Given the description of an element on the screen output the (x, y) to click on. 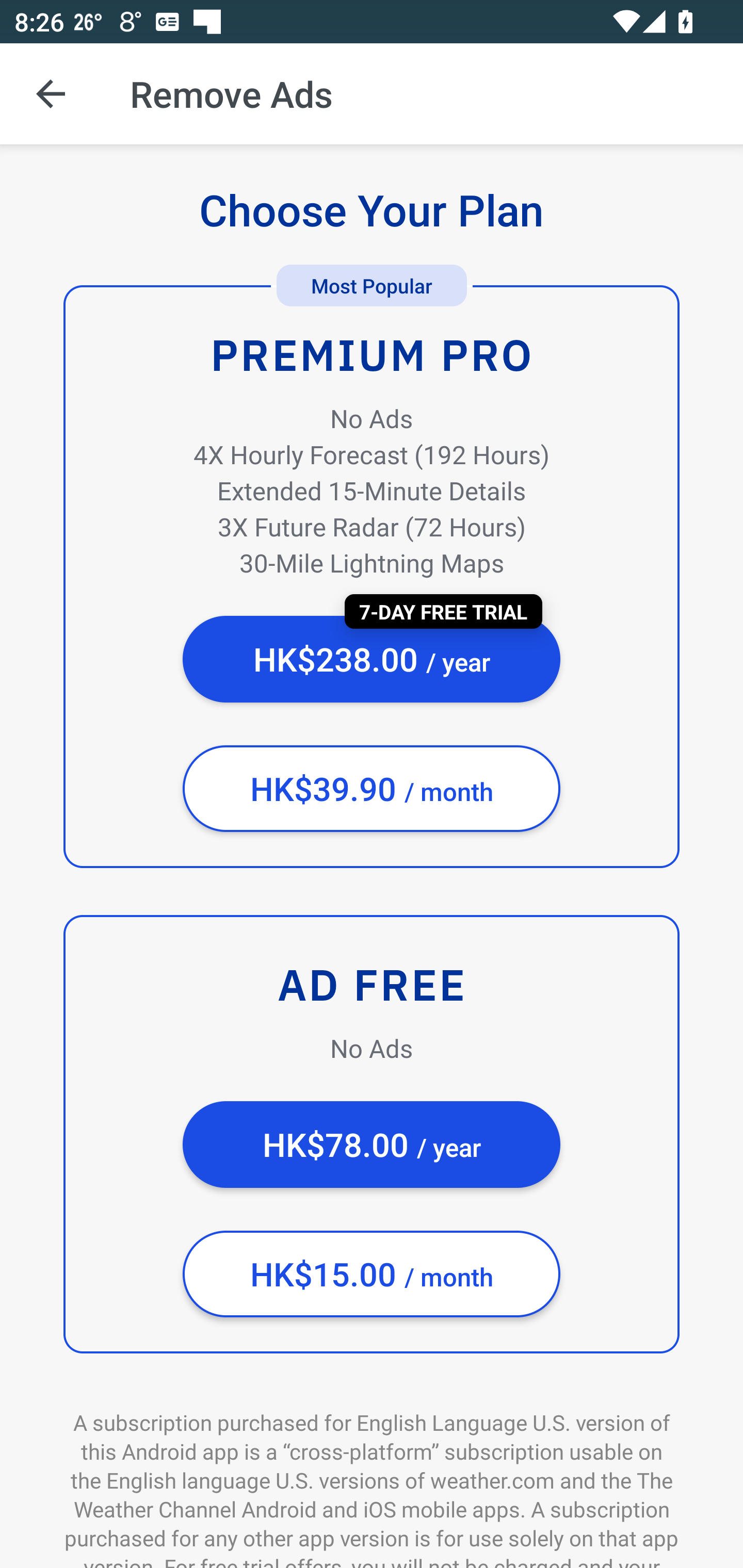
Navigate up (50, 93)
HK$238.00 / year (371, 659)
HK$39.90 / month (371, 788)
HK$78.00 / year (371, 1144)
HK$15.00 / month (371, 1273)
